Given the description of an element on the screen output the (x, y) to click on. 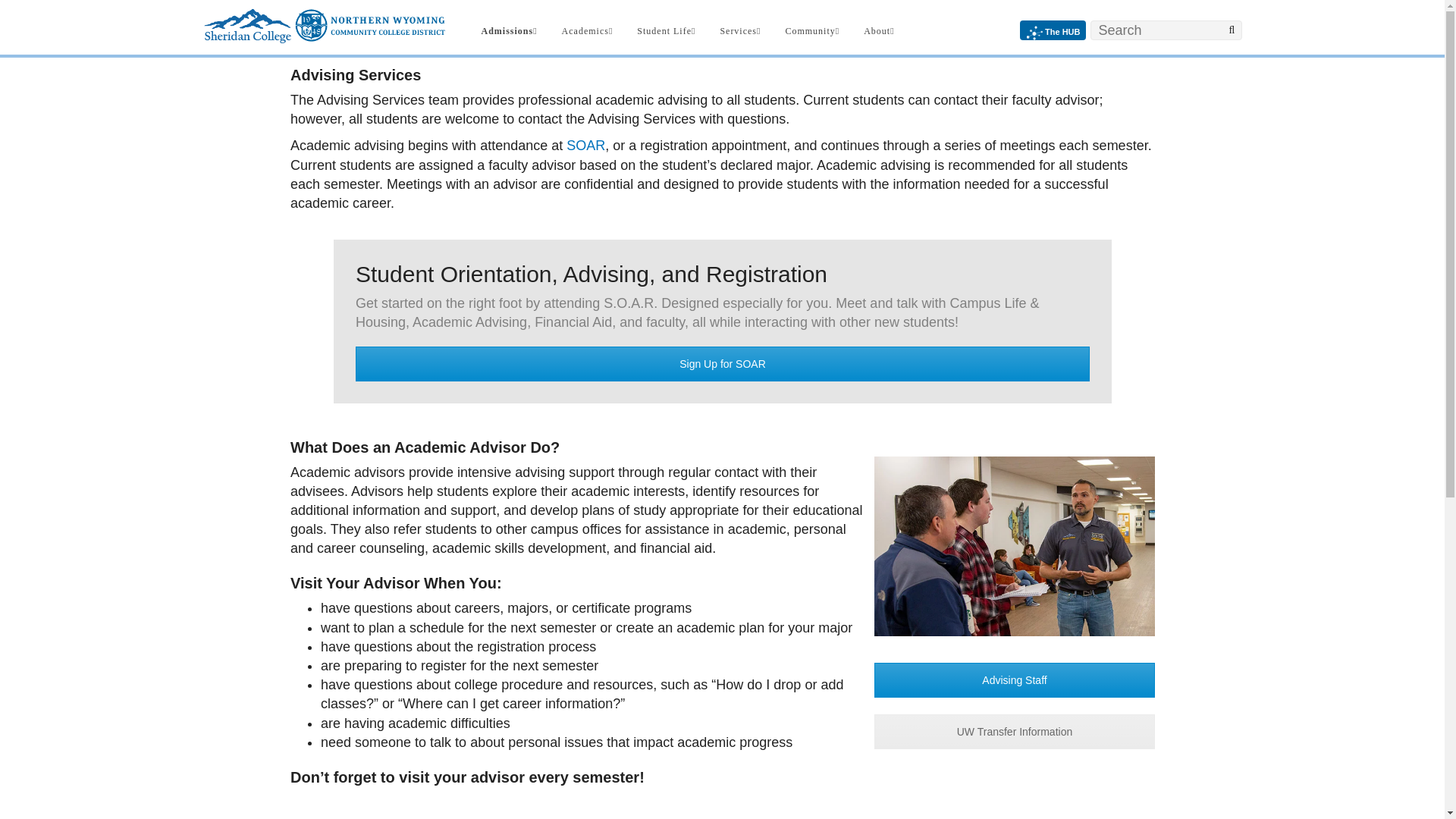
Type search term here (1165, 30)
Services (739, 26)
Student Life (665, 26)
Admissions (508, 26)
Academics (587, 26)
Community (812, 26)
